Given the description of an element on the screen output the (x, y) to click on. 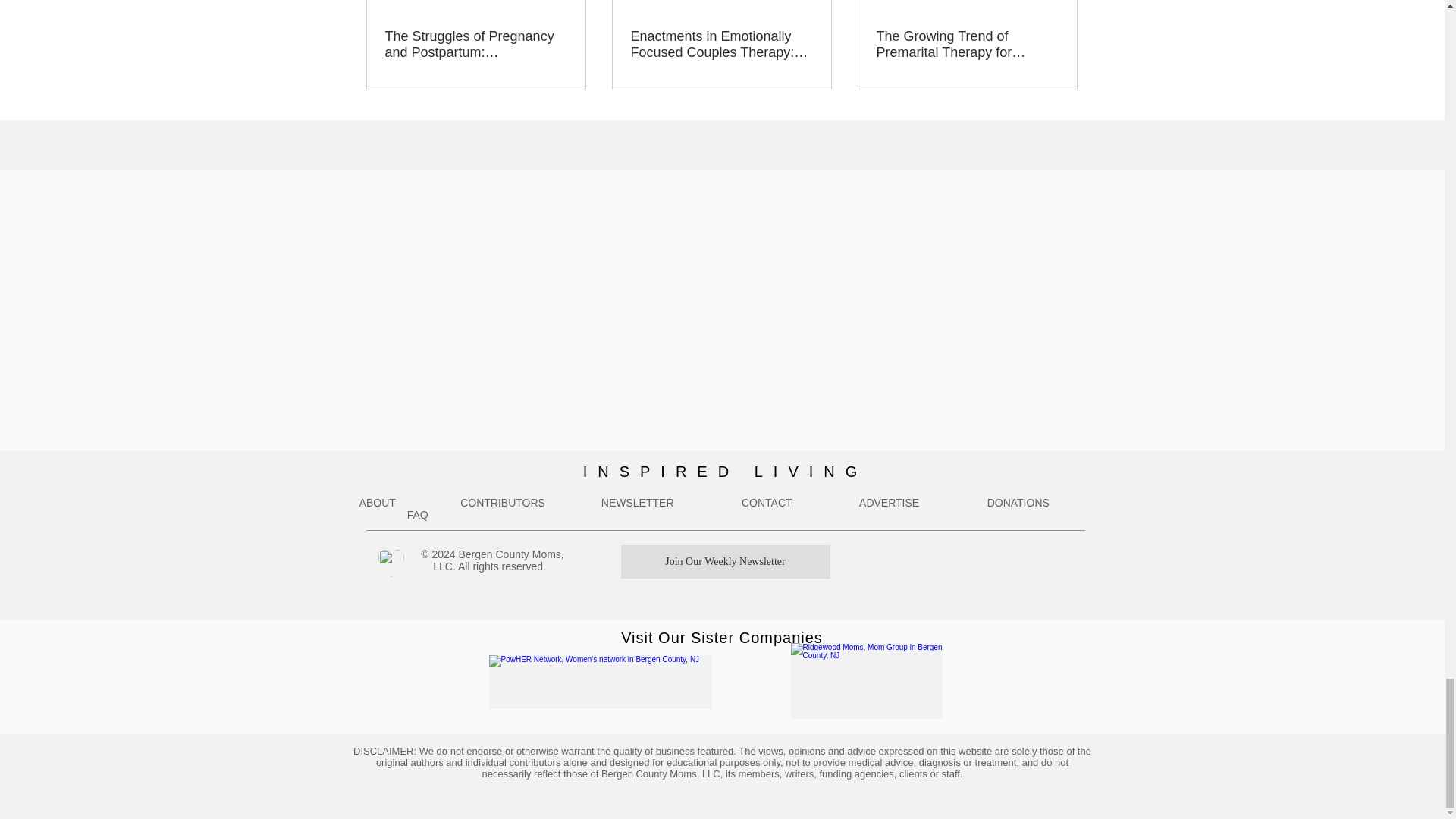
Ridgewood Moms, Mom Group in Bergen County, NJ (866, 680)
PowHER Network, Women's network in Bergen County, N (599, 682)
